Given the description of an element on the screen output the (x, y) to click on. 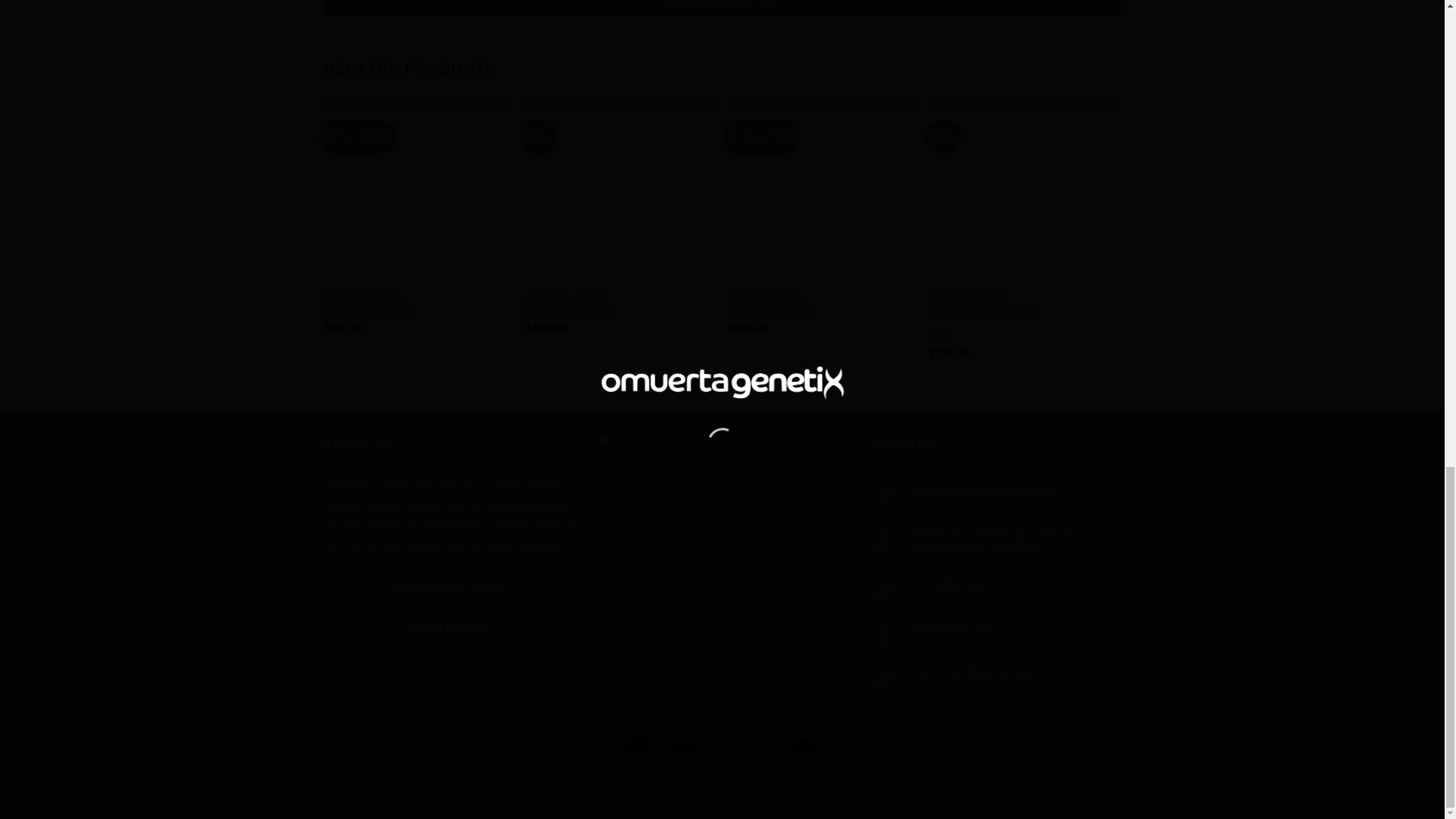
SEED GERMINATION 101 (1013, 491)
CLONING 101 (1013, 585)
